Given the description of an element on the screen output the (x, y) to click on. 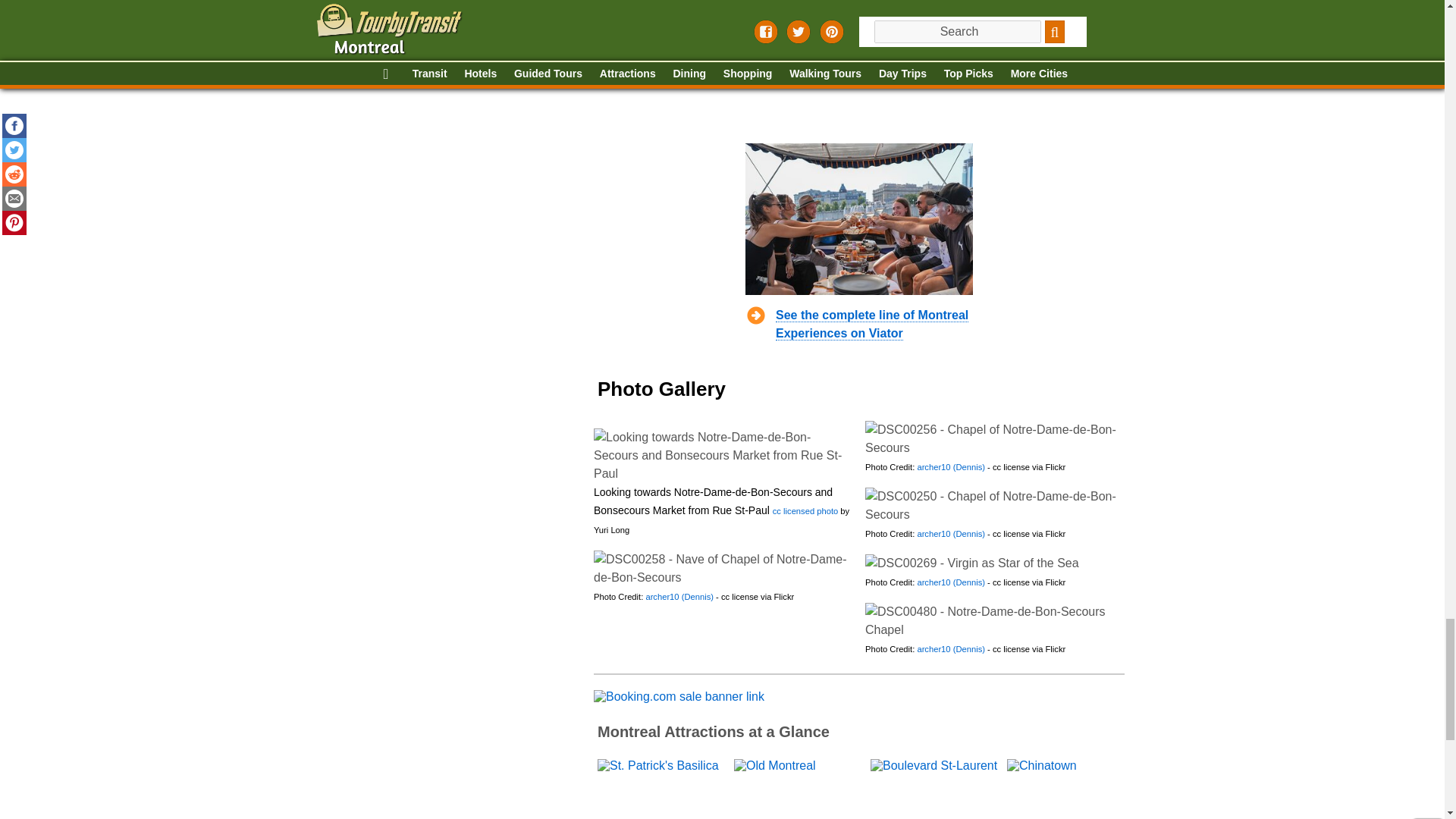
cc licensed photo (804, 510)
See the complete line of Montreal Experiences on Viator (871, 324)
view of the chapel from room 5 at Maison Pierre du Calvet (804, 510)
Click to Enlarge (994, 505)
Click to Enlarge (994, 438)
Click to Enlarge (994, 620)
Click to Enlarge (971, 563)
Click to Enlarge (721, 455)
Click to Enlarge (721, 568)
